Given the description of an element on the screen output the (x, y) to click on. 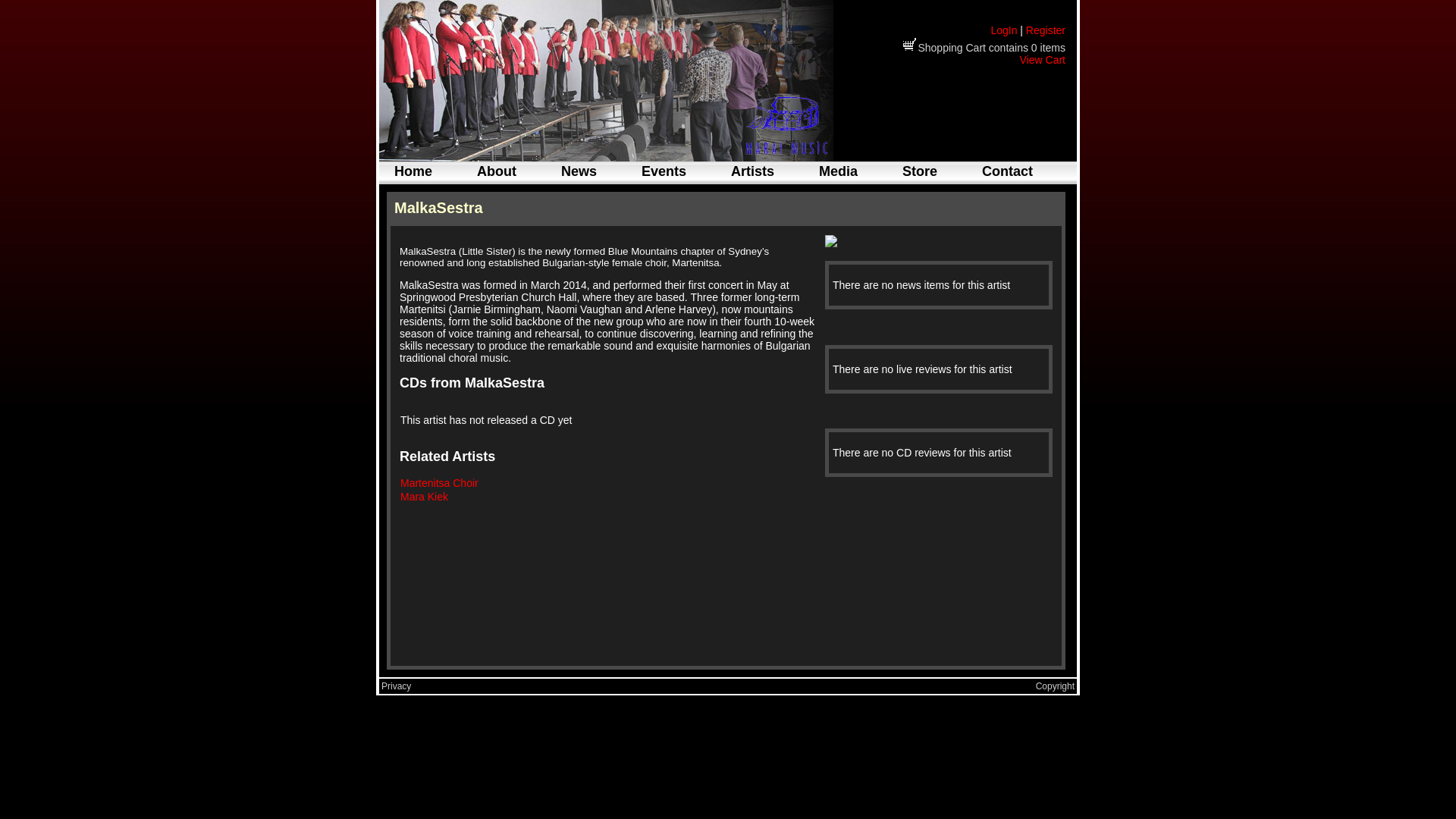
Artists Element type: text (752, 170)
Copyright Element type: text (1054, 685)
About Element type: text (496, 170)
Home Element type: text (413, 170)
View Cart Element type: text (1042, 59)
Store Element type: text (919, 170)
News Element type: text (578, 170)
Martenitsa Choir Element type: text (439, 482)
Events Element type: text (663, 170)
Register Element type: text (1045, 30)
Contact Element type: text (1007, 170)
Media Element type: text (837, 170)
Mara Kiek Element type: text (424, 496)
LogIn Element type: text (1003, 30)
Privacy Element type: text (396, 685)
